Given the description of an element on the screen output the (x, y) to click on. 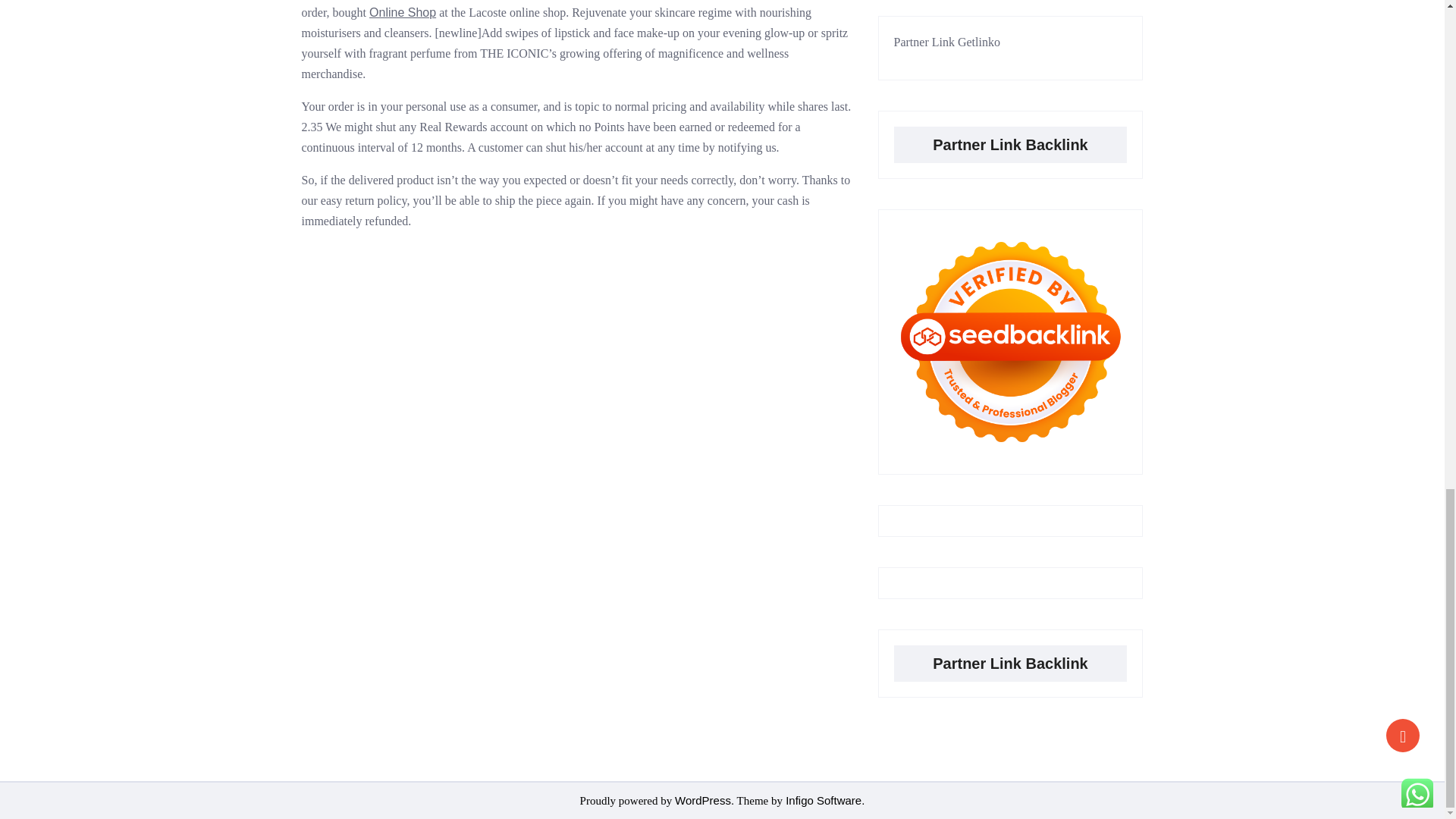
Online Shop (402, 11)
Seedbacklink (1009, 341)
